Given the description of an element on the screen output the (x, y) to click on. 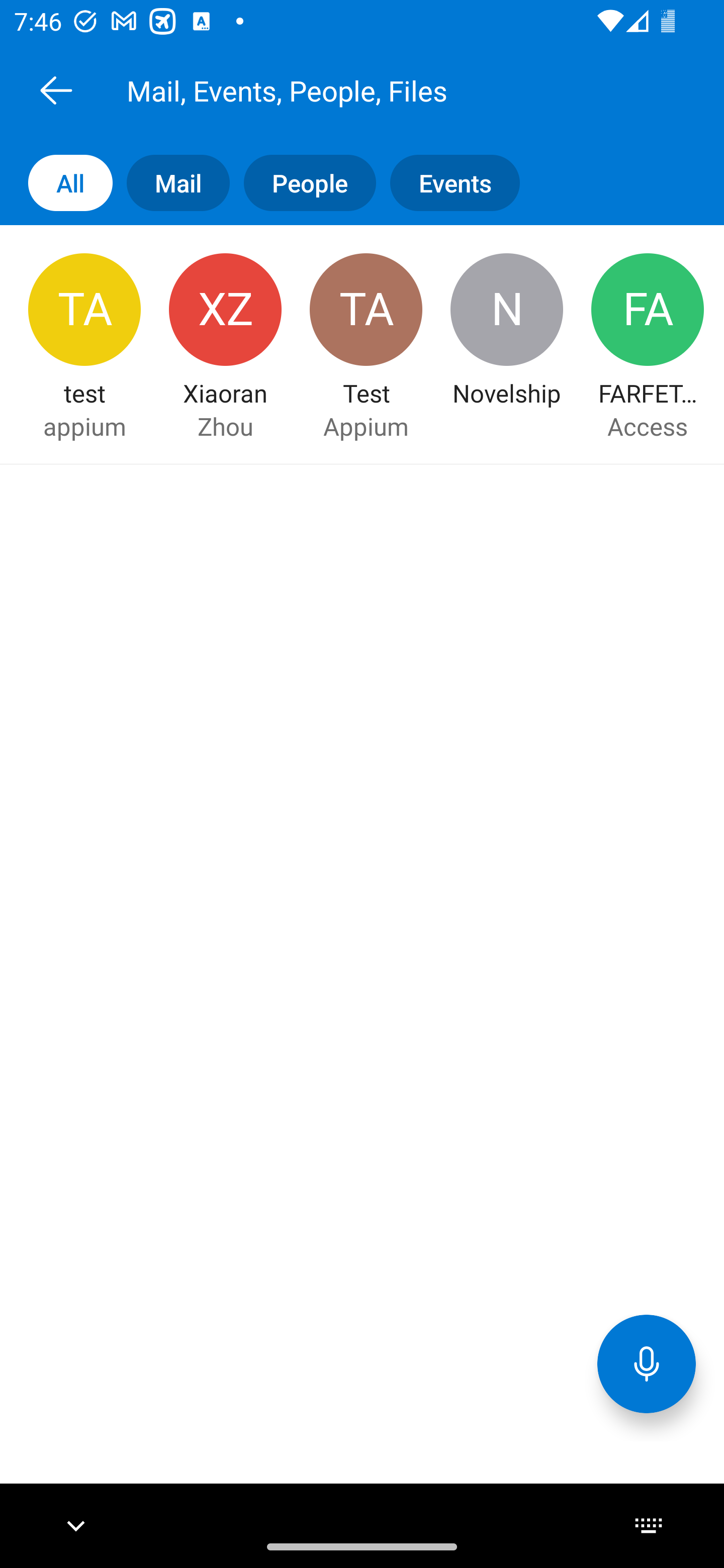
Back (55, 89)
Mail, Events, People, Files (384, 89)
Mail (170, 183)
People (302, 183)
Events (447, 183)
Voice Assistant (646, 1362)
